Given the description of an element on the screen output the (x, y) to click on. 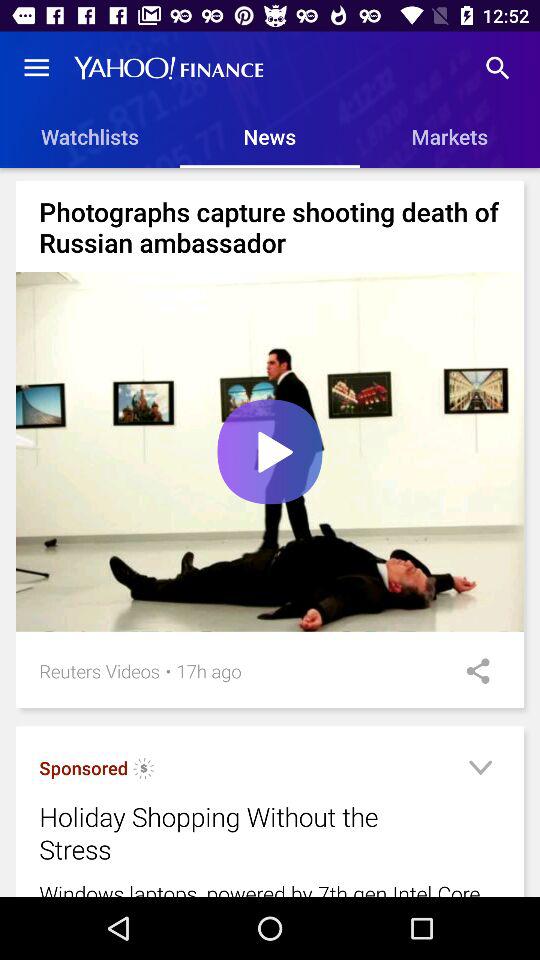
press the icon next to reuters videos icon (168, 670)
